Given the description of an element on the screen output the (x, y) to click on. 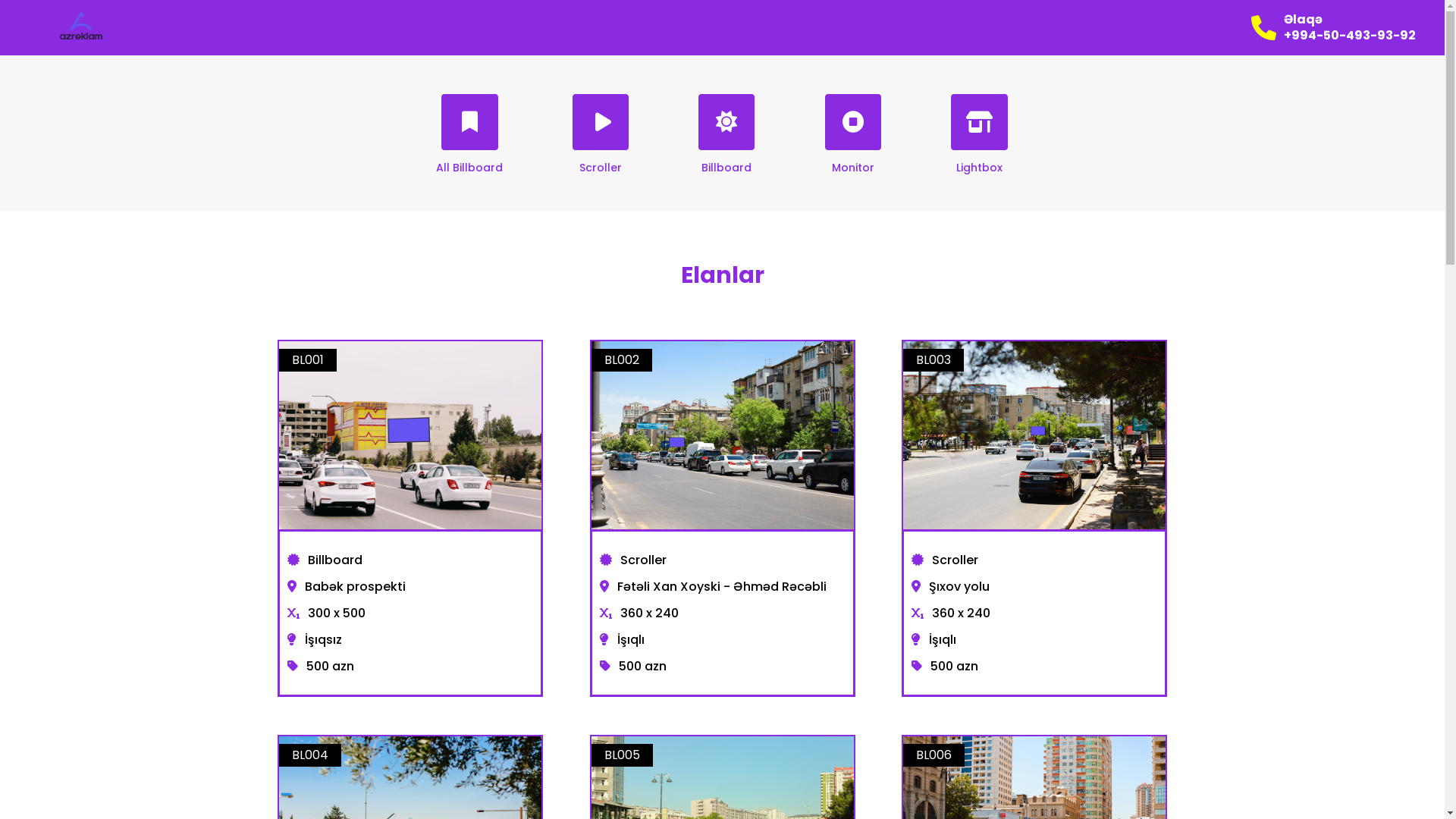
Monitor Element type: text (852, 144)
Scroller Element type: text (600, 144)
Billboard Element type: text (726, 144)
All Billboard Element type: text (469, 144)
Lightbox Element type: text (979, 144)
